Given the description of an element on the screen output the (x, y) to click on. 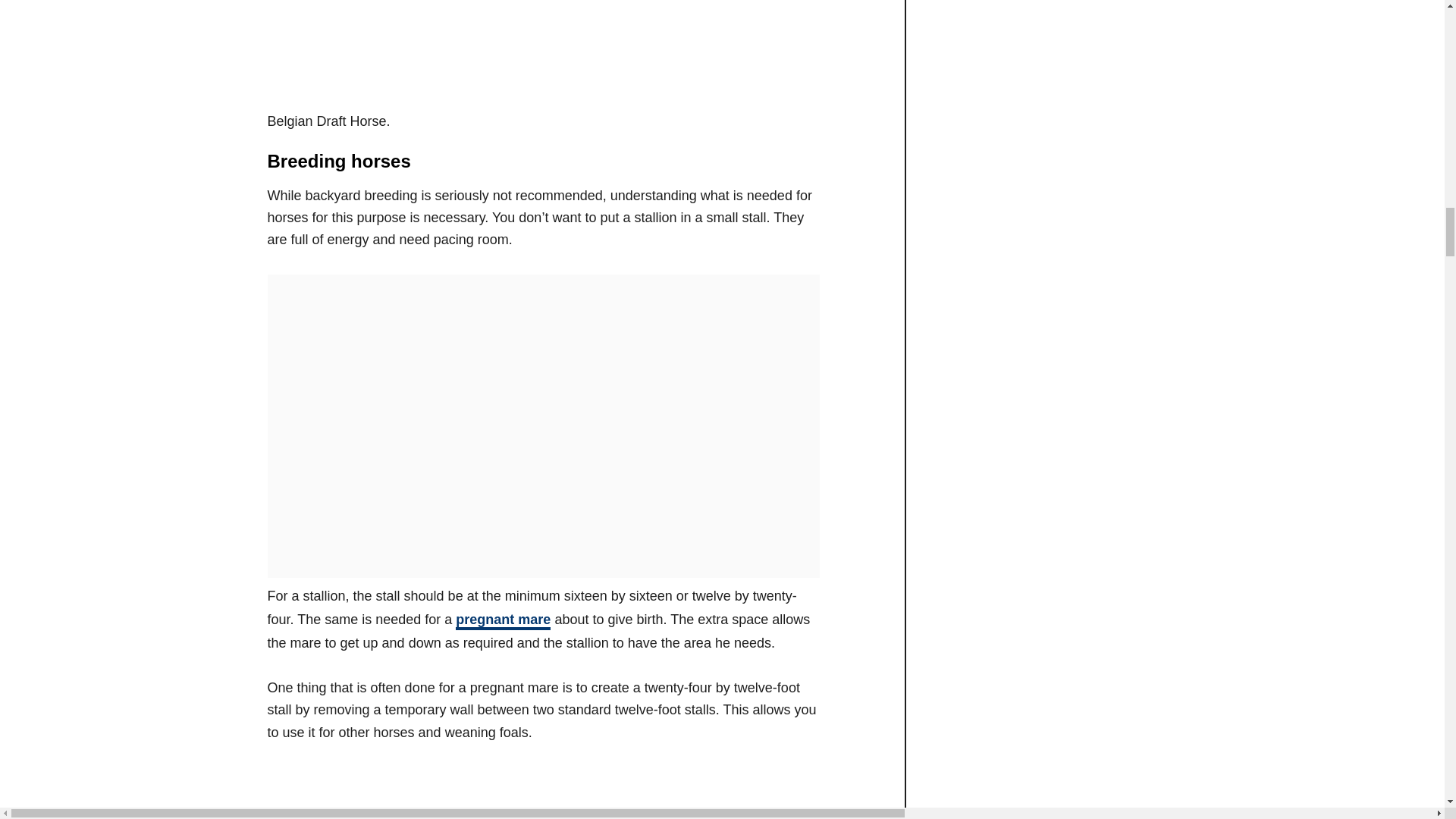
How Big Does a Horse Stall Need to Be, and Why? 3 Examples (542, 792)
pregnant mare (502, 620)
How Big Does a Horse Stall Need to Be, and Why? 3 Examples (507, 52)
